Given the description of an element on the screen output the (x, y) to click on. 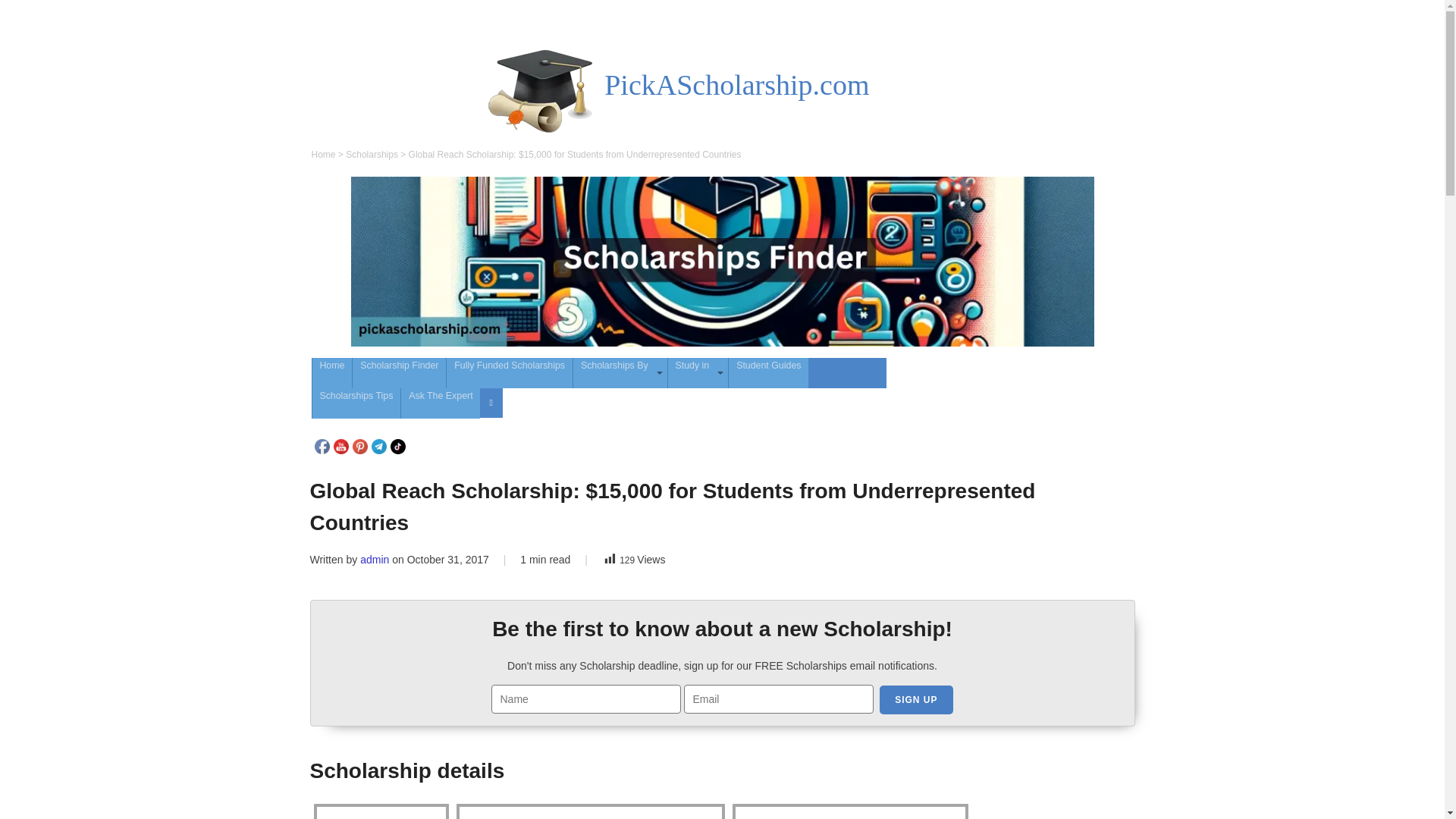
Home (322, 154)
Go to PickAScholarship.com. (322, 154)
Go to Scholarships. (371, 154)
Scholarship Finder (398, 372)
Tiktok (397, 446)
Fully Funded Scholarships (509, 372)
Sign Up (915, 699)
Scholarships (371, 154)
Facebook (321, 446)
Scholarships By (619, 372)
